Given the description of an element on the screen output the (x, y) to click on. 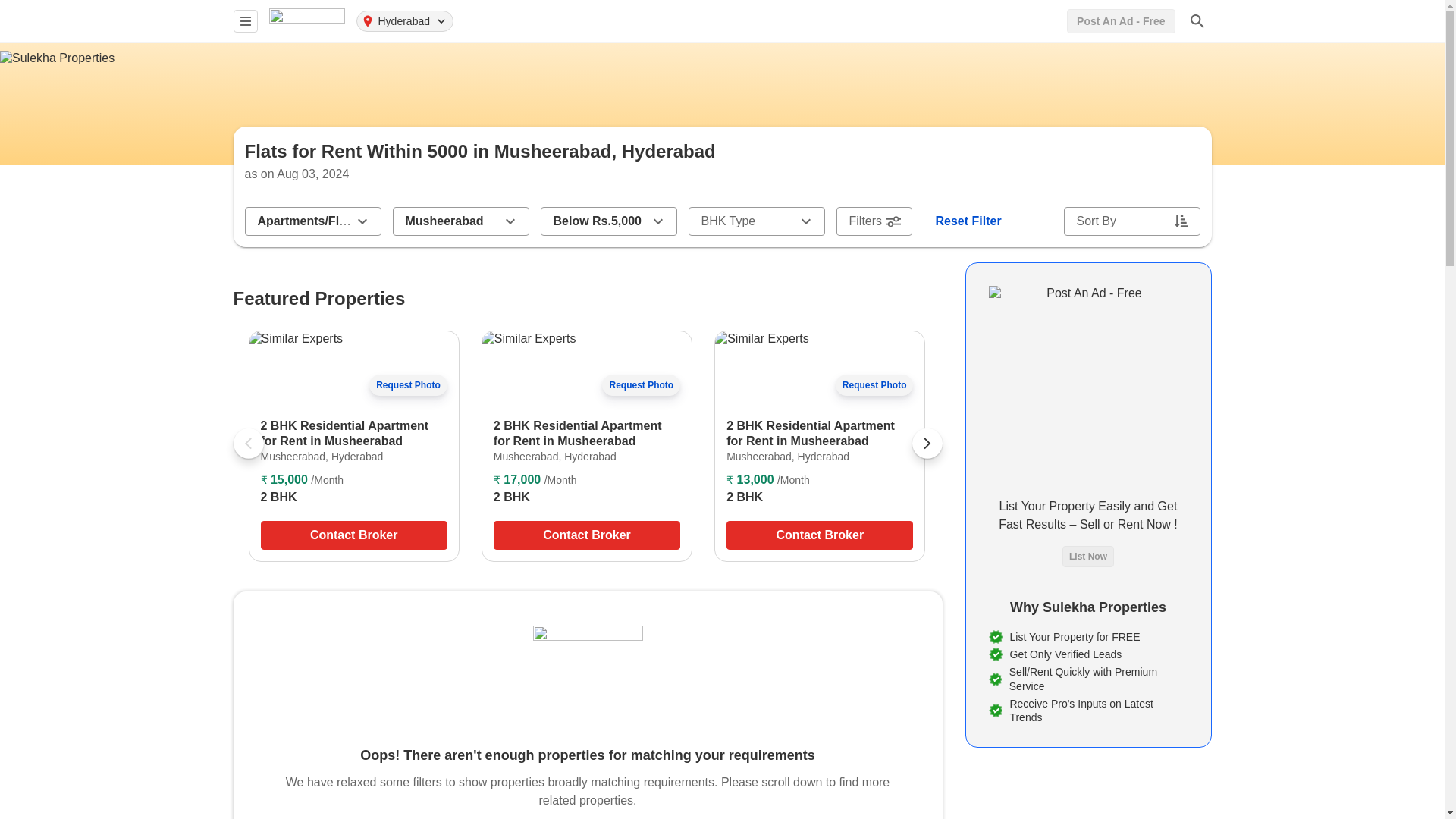
Post An Ad - Free (1120, 21)
Sulekha Property (305, 20)
Post An Ad - Free (1120, 21)
